Given the description of an element on the screen output the (x, y) to click on. 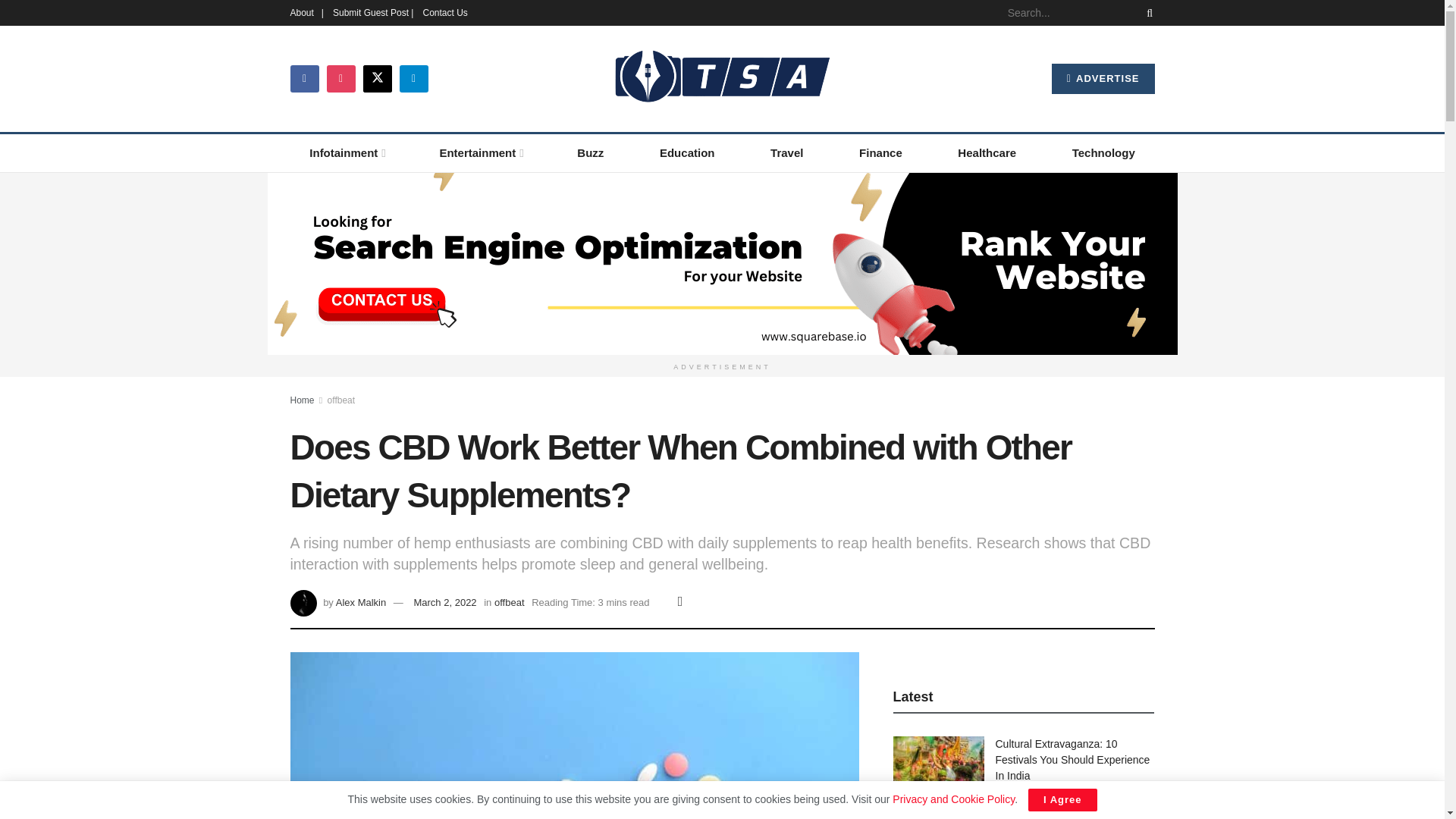
Travel (786, 152)
Finance (880, 152)
offbeat (341, 398)
Healthcare (987, 152)
Entertainment (480, 152)
Home (301, 398)
Buzz (590, 152)
Education (686, 152)
Contact Us (444, 12)
ADVERTISE (1102, 78)
